Given the description of an element on the screen output the (x, y) to click on. 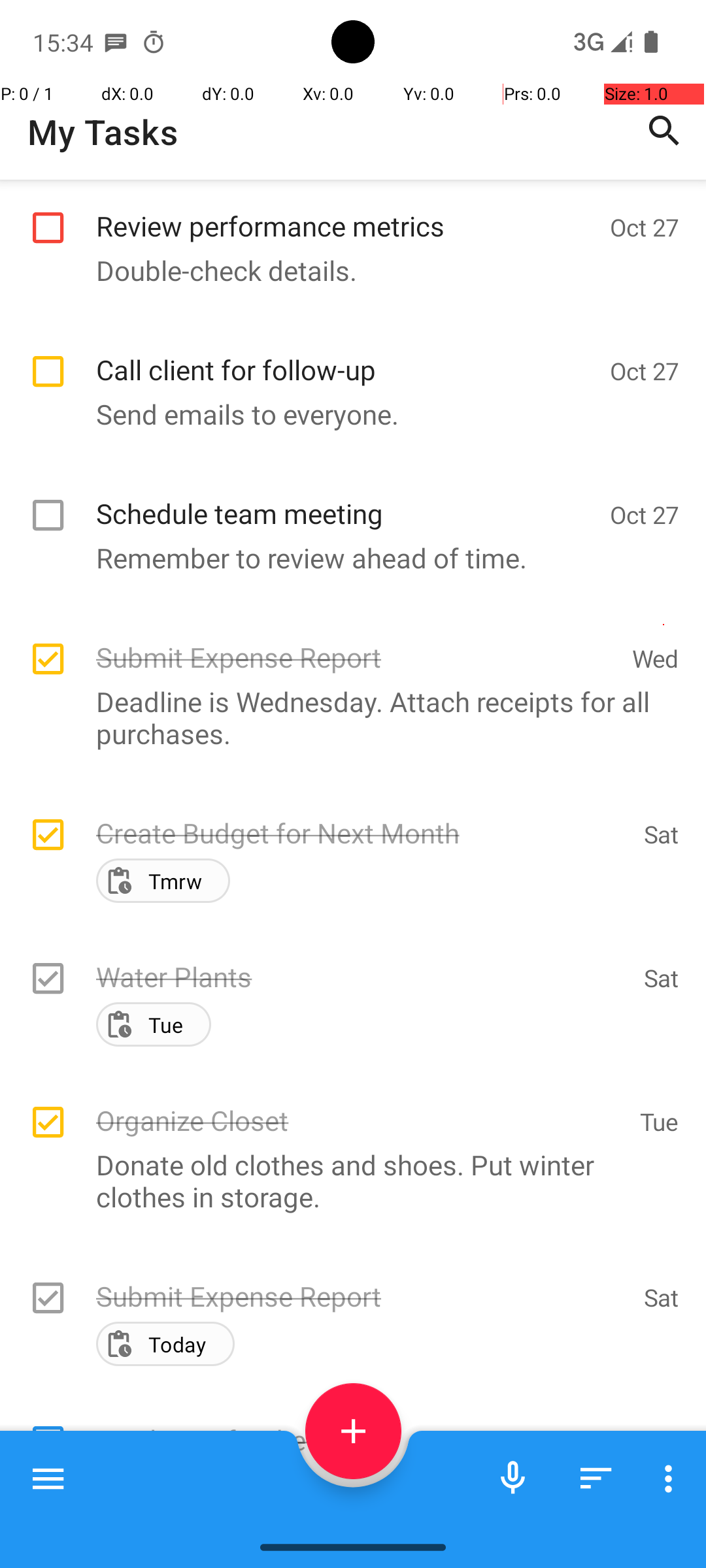
Oct 27 Element type: android.widget.TextView (644, 226)
Call client for follow-up Element type: android.widget.TextView (346, 355)
Send emails to everyone. Element type: android.widget.TextView (346, 413)
Schedule team meeting Element type: android.widget.TextView (346, 499)
Remember to review ahead of time. Element type: android.widget.TextView (346, 557)
